Given the description of an element on the screen output the (x, y) to click on. 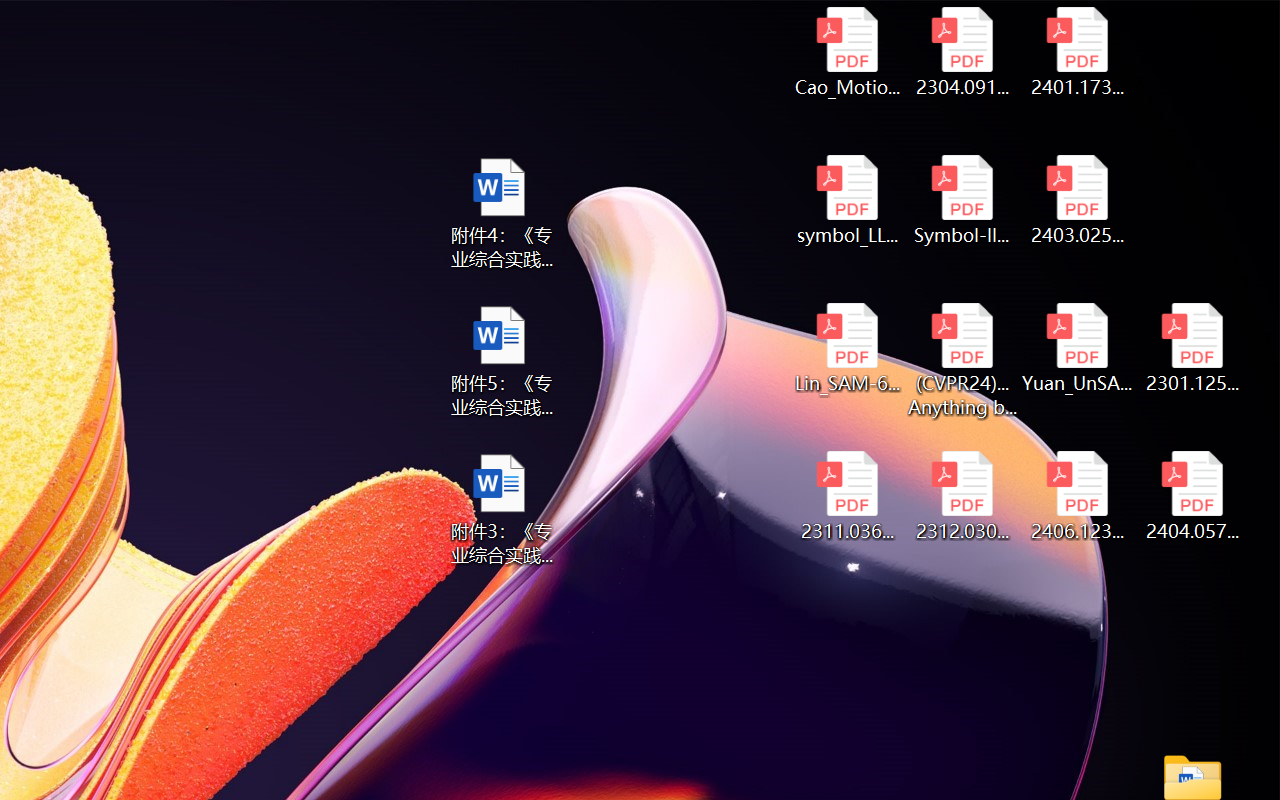
symbol_LLM.pdf (846, 200)
2404.05719v1.pdf (1192, 496)
